Given the description of an element on the screen output the (x, y) to click on. 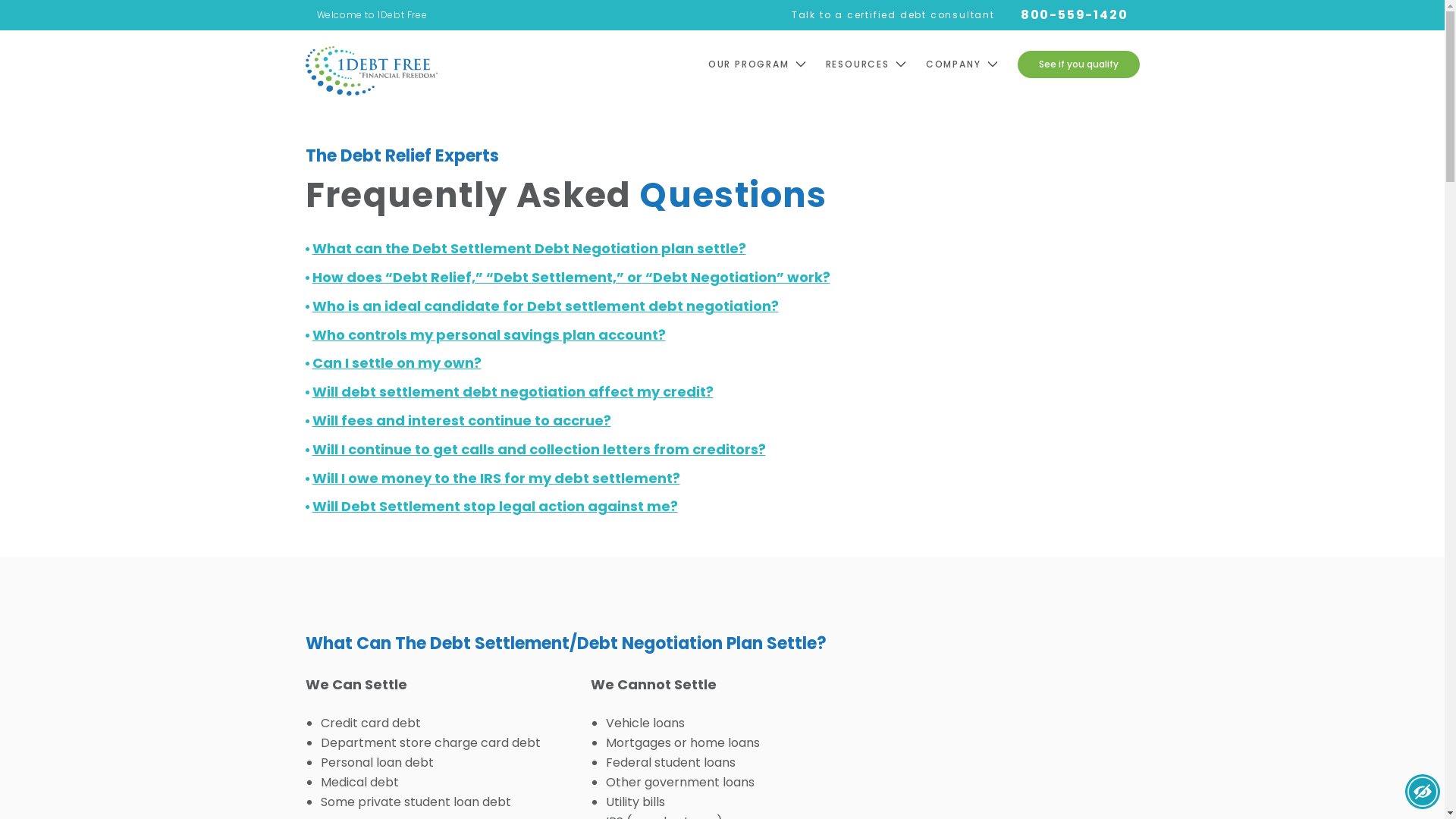
What can the Debt Settlement Debt Negotiation plan settle? Element type: text (529, 248)
Will I owe money to the IRS for my debt settlement? Element type: text (496, 478)
Will fees and interest continue to accrue? Element type: text (461, 420)
Will debt settlement debt negotiation affect my credit? Element type: text (512, 391)
COMPANY Element type: text (971, 63)
Can I settle on my own? Element type: text (396, 362)
RESOURCES Element type: text (875, 63)
Will Debt Settlement stop legal action against me? Element type: text (494, 506)
OUR PROGRAM Element type: text (766, 63)
800-559-1420 Element type: text (1074, 15)
See if you qualify Element type: text (1078, 64)
Who controls my personal savings plan account? Element type: text (488, 334)
